Given the description of an element on the screen output the (x, y) to click on. 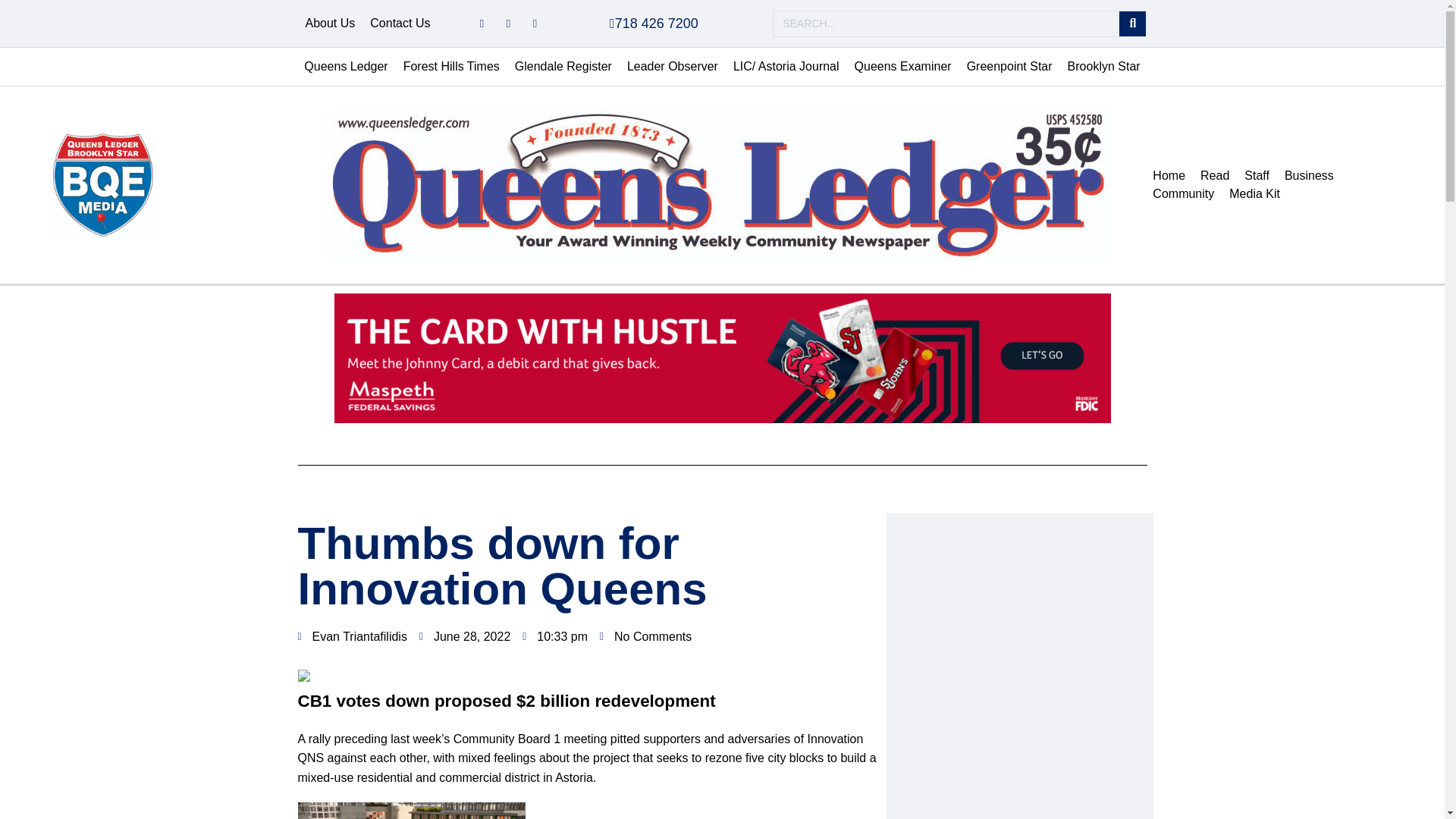
About Us (329, 23)
Home (1168, 176)
Leader Observer (672, 66)
Read (1214, 176)
Contact Us (400, 23)
Queens Ledger (345, 66)
Glendale Register (563, 66)
Brooklyn Star (1103, 66)
Queens Examiner (903, 66)
718 426 7200 (653, 23)
